Given the description of an element on the screen output the (x, y) to click on. 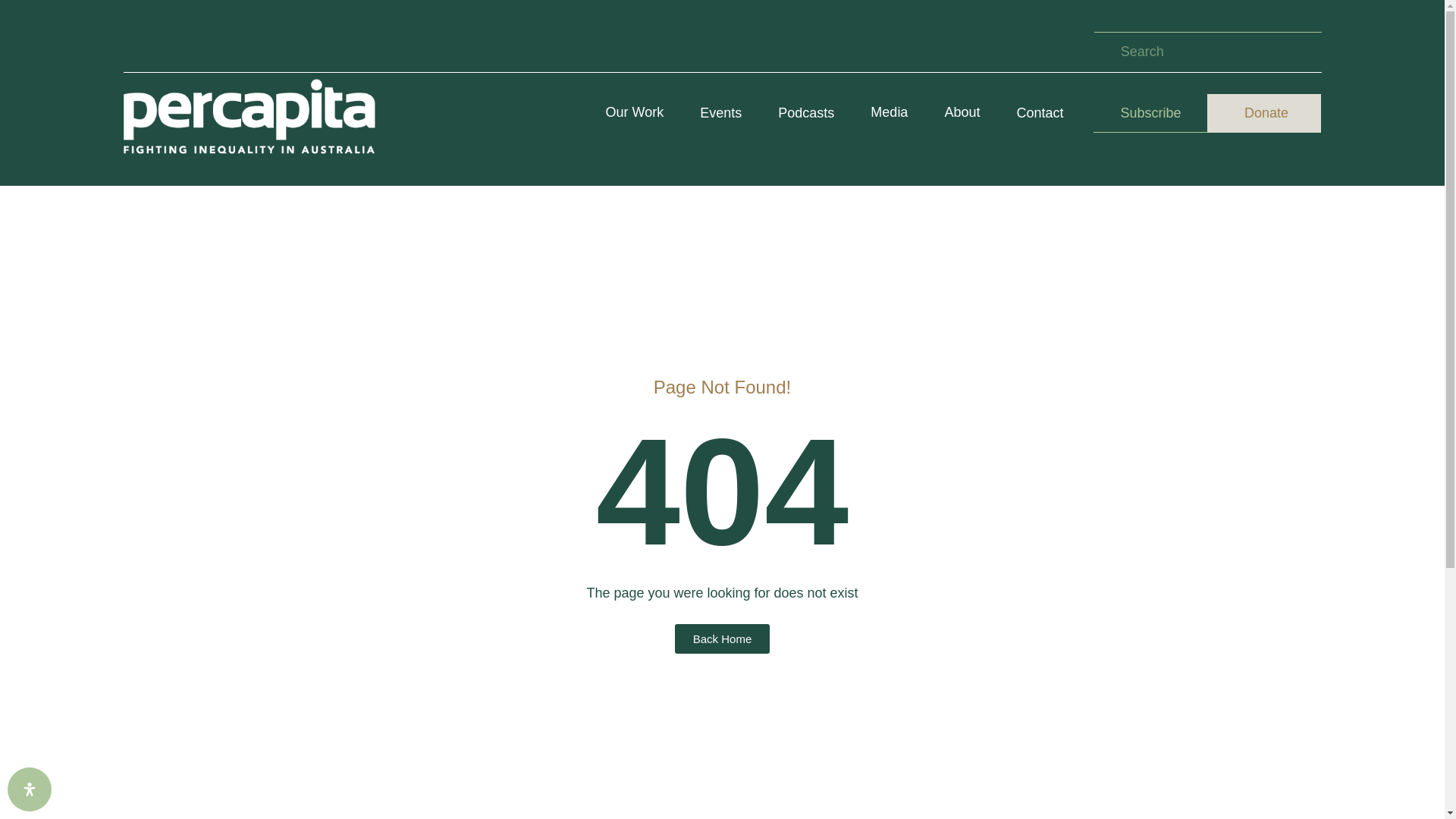
Contact (1039, 113)
Media (888, 113)
Subscribe (1150, 113)
About (961, 113)
 Donate (1263, 113)
Podcasts (805, 113)
Our Work (635, 113)
Accessibility (28, 789)
Events (720, 113)
